Given the description of an element on the screen output the (x, y) to click on. 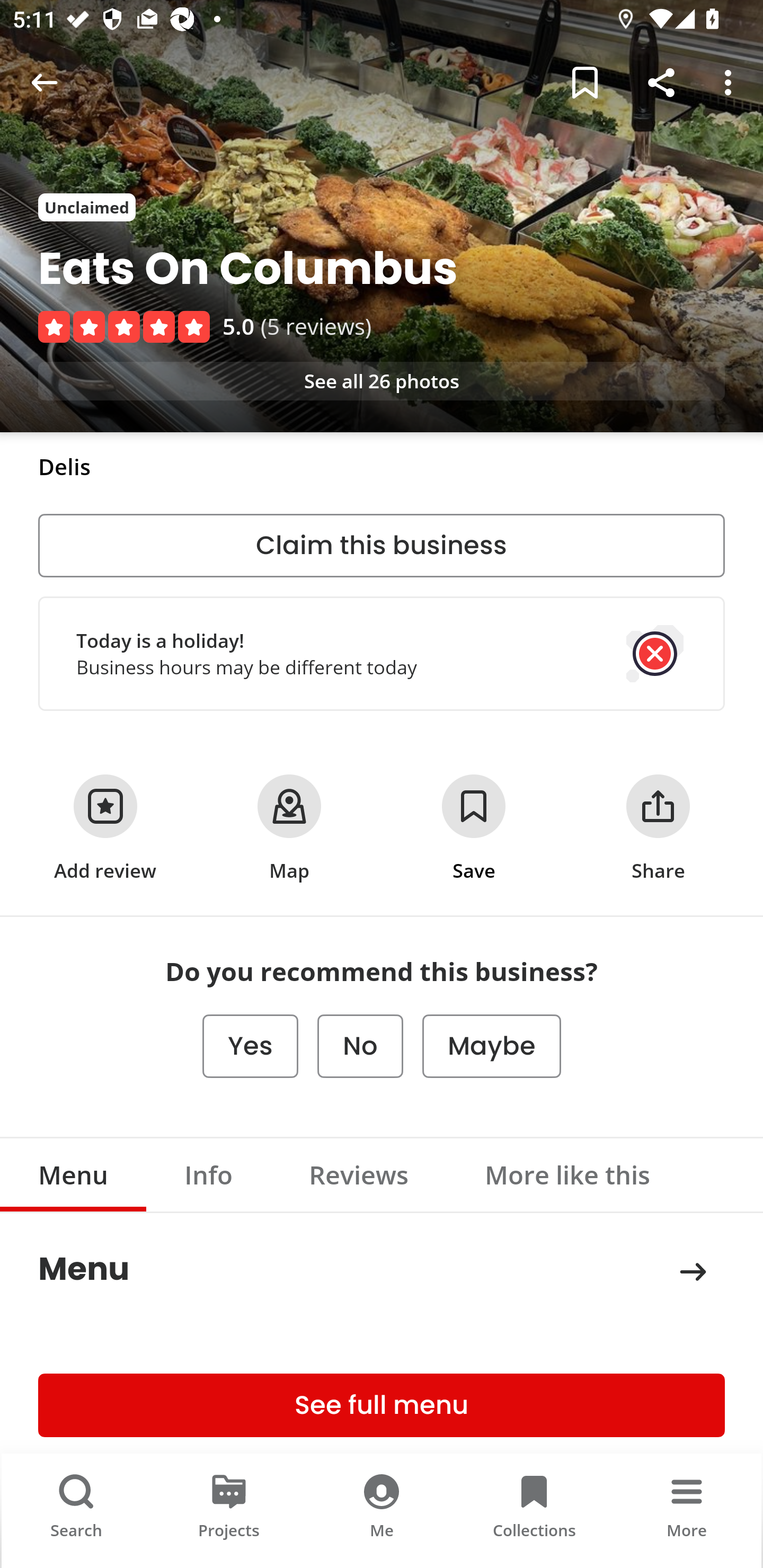
Info (208, 1174)
